Given the description of an element on the screen output the (x, y) to click on. 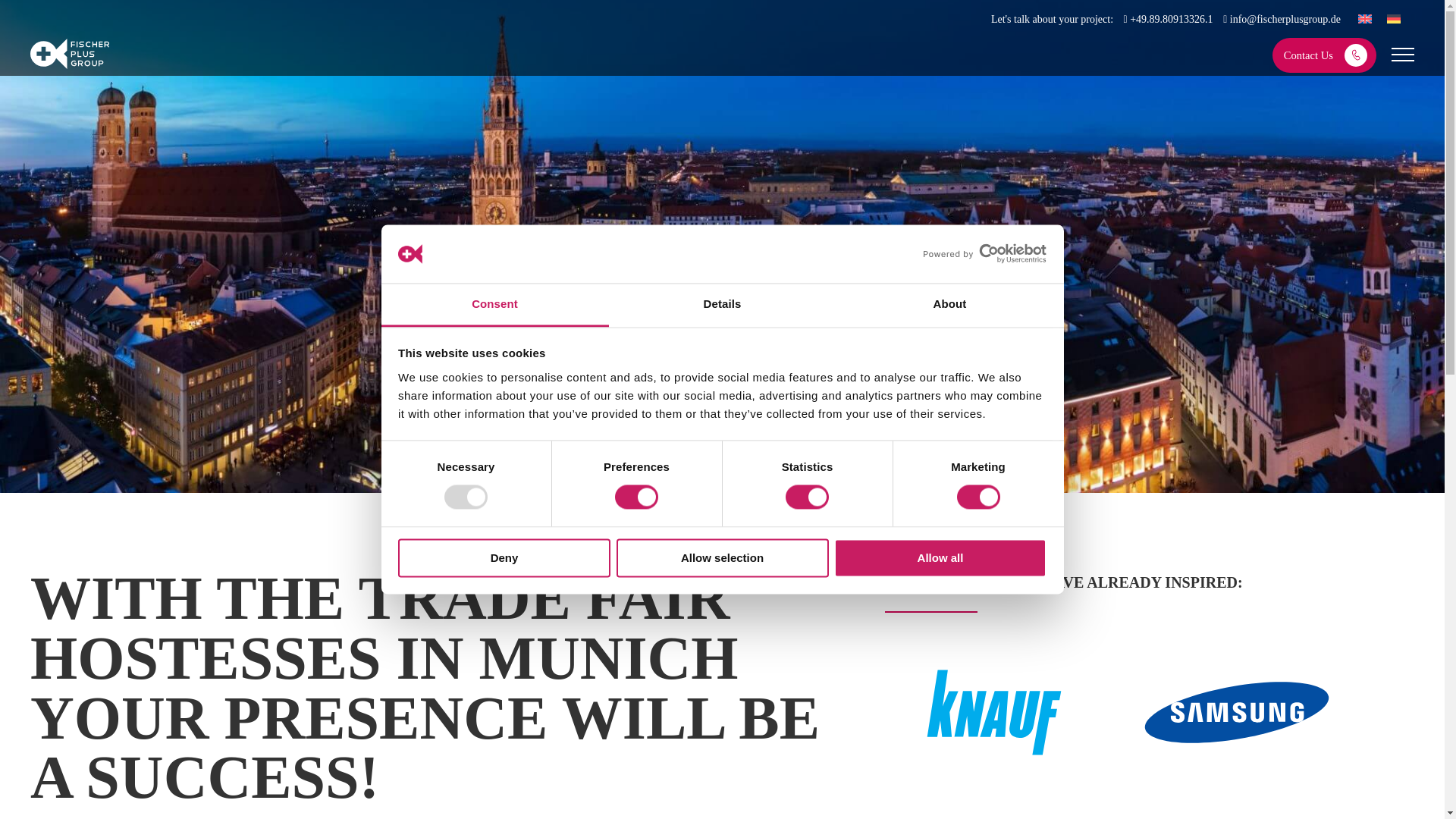
Allow selection (721, 557)
Allow all (940, 557)
Consent (494, 304)
About (948, 304)
Details (721, 304)
Deny (503, 557)
